Given the description of an element on the screen output the (x, y) to click on. 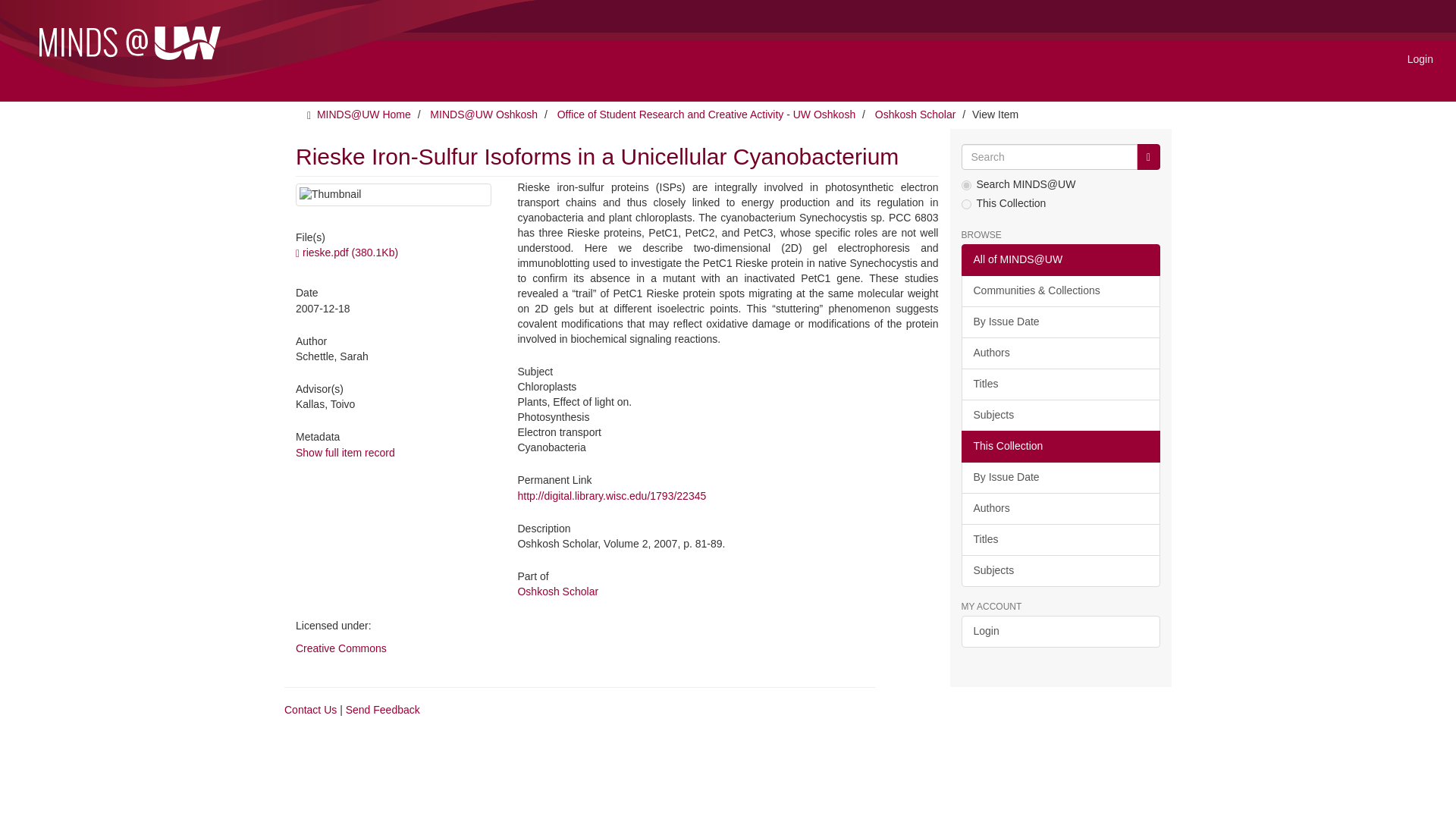
Show full item record (344, 452)
By Issue Date (1060, 477)
Oshkosh Scholar (915, 114)
Subjects (1060, 571)
By Issue Date (1060, 322)
This Collection (1060, 446)
Login (1060, 631)
Subjects (1060, 415)
Authors (1060, 353)
